Given the description of an element on the screen output the (x, y) to click on. 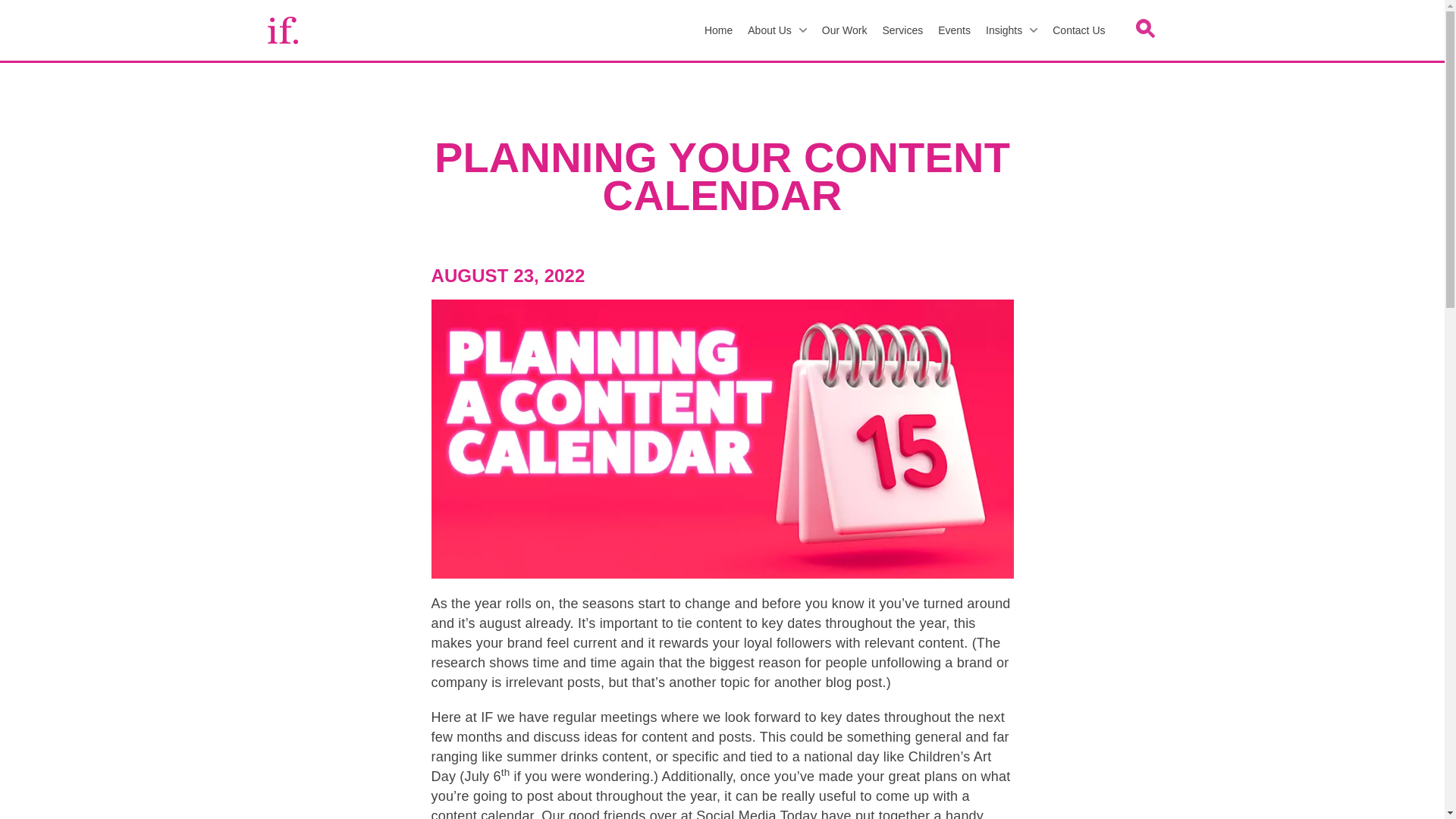
Services (903, 30)
Insights (1011, 30)
About Us (776, 30)
Home (718, 30)
Events (954, 30)
Contact Us (1078, 30)
Our Work (844, 30)
